Given the description of an element on the screen output the (x, y) to click on. 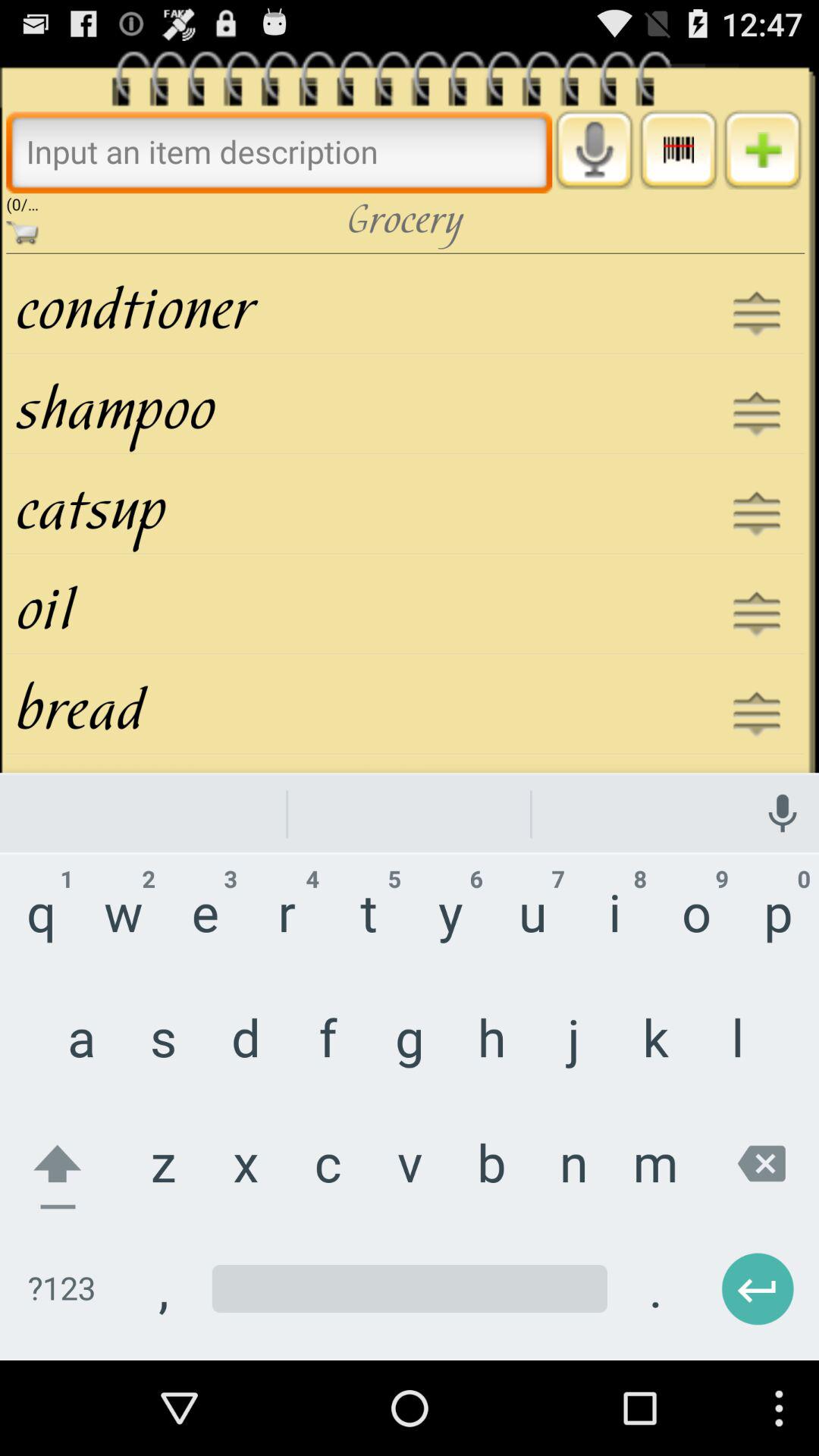
music (678, 149)
